Given the description of an element on the screen output the (x, y) to click on. 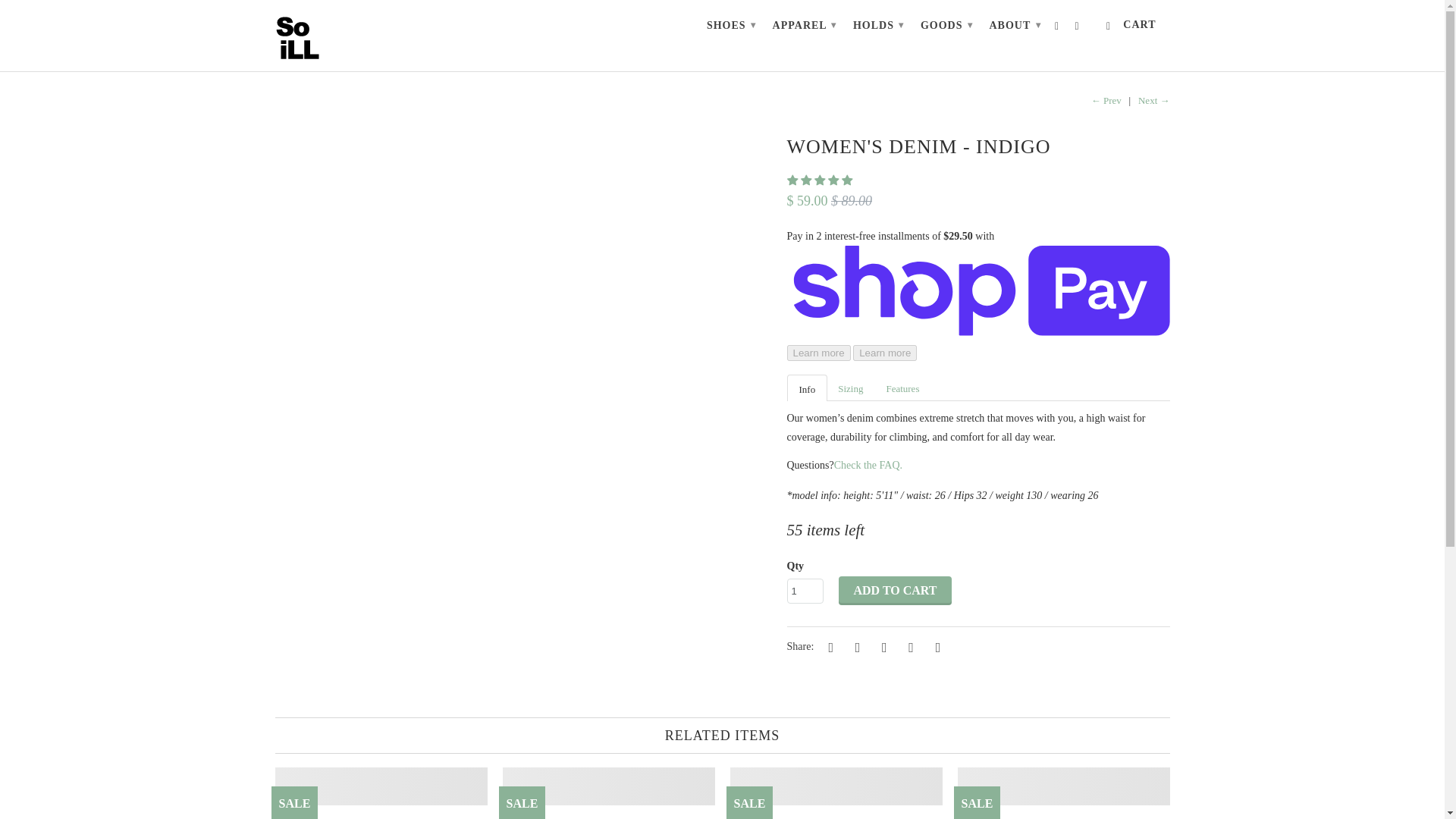
Share this on Twitter (828, 646)
So iLL Cross Logo Link To Homepage (312, 35)
Share this on Facebook (855, 646)
Email this to a friend (935, 646)
Share this on Pinterest (881, 646)
1 (805, 590)
